Given the description of an element on the screen output the (x, y) to click on. 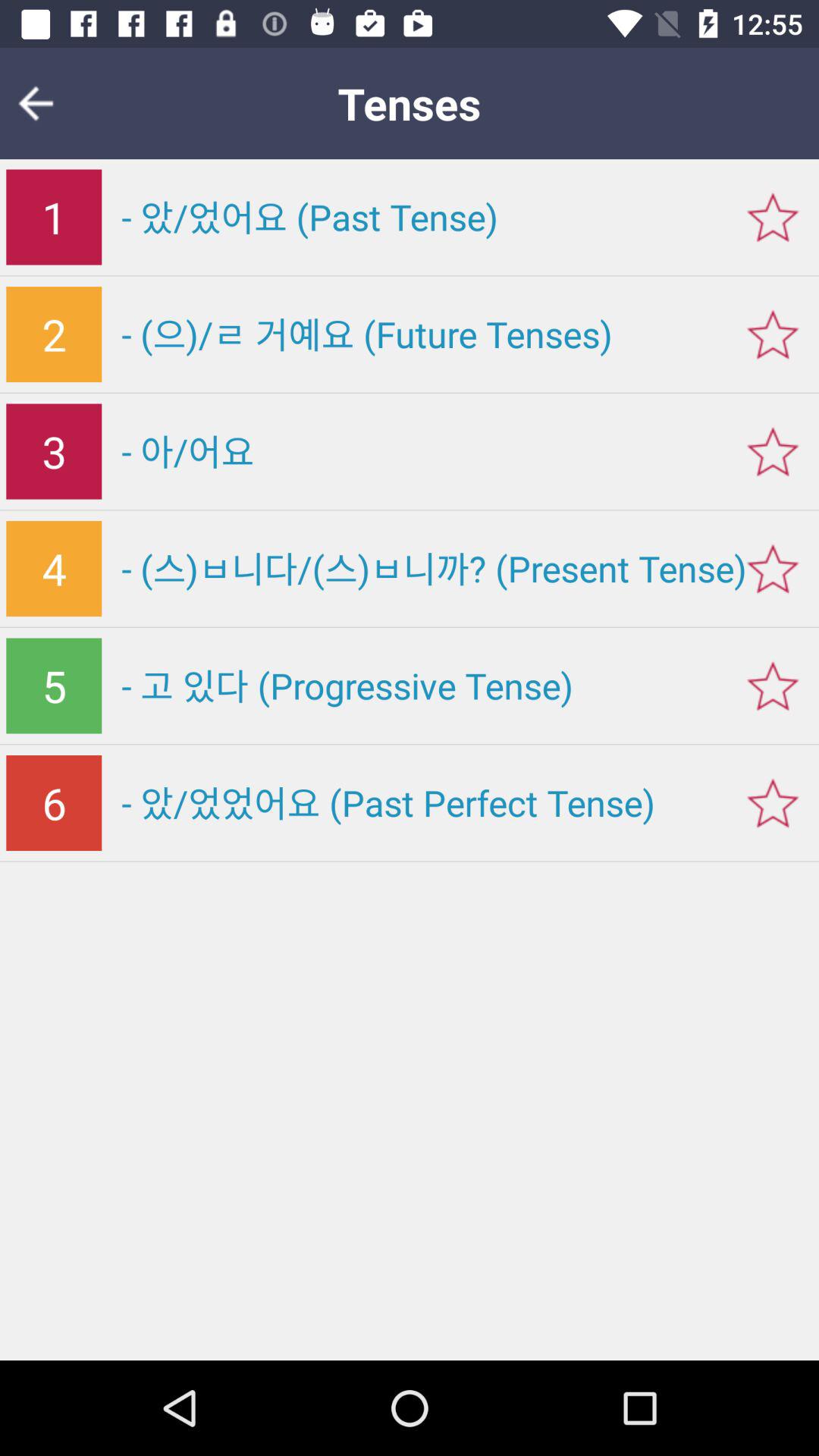
choose the icon above 3 item (53, 334)
